Given the description of an element on the screen output the (x, y) to click on. 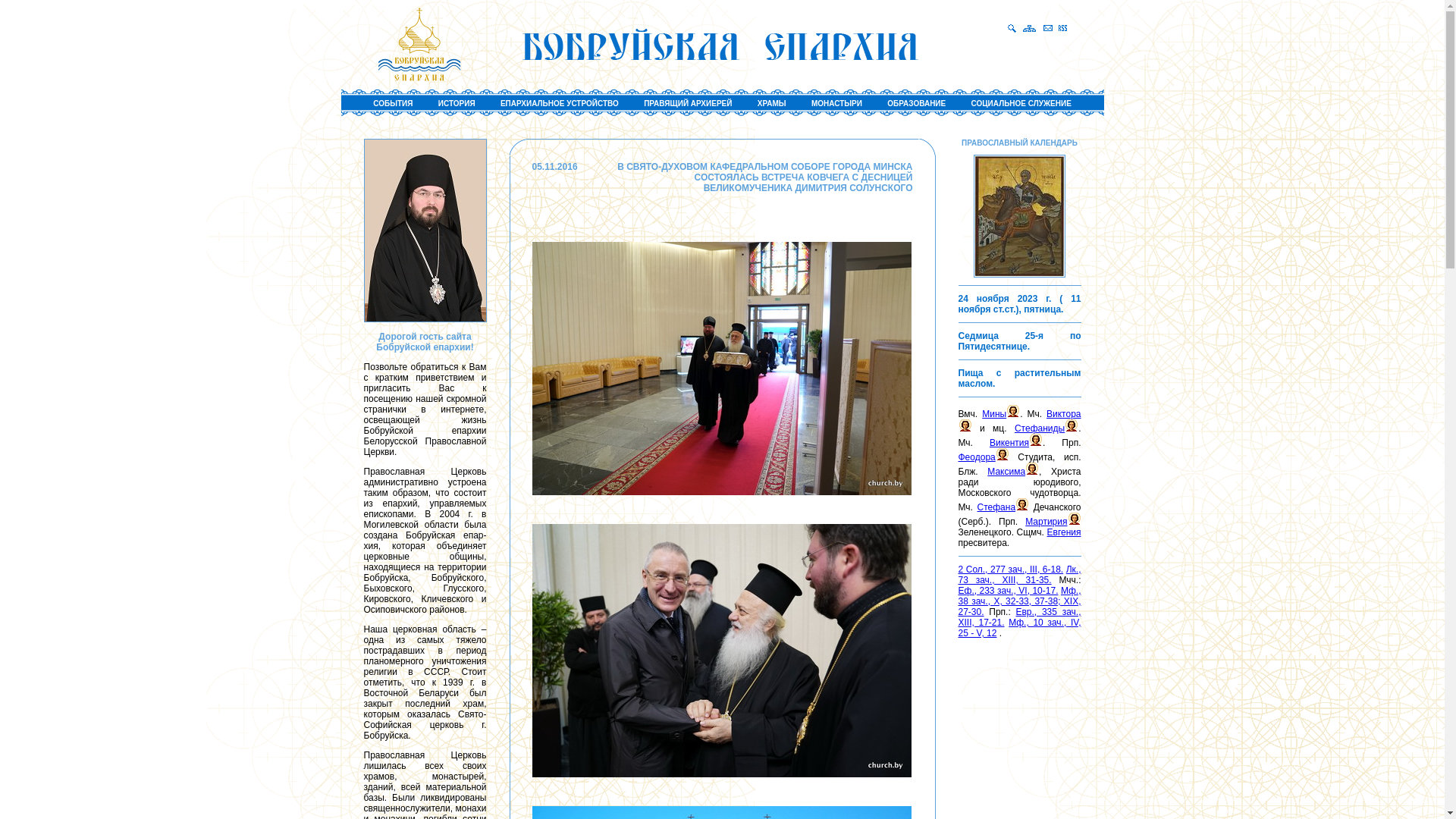
2.jpg Element type: hover (721, 650)
1.jpg Element type: hover (721, 368)
